Given the description of an element on the screen output the (x, y) to click on. 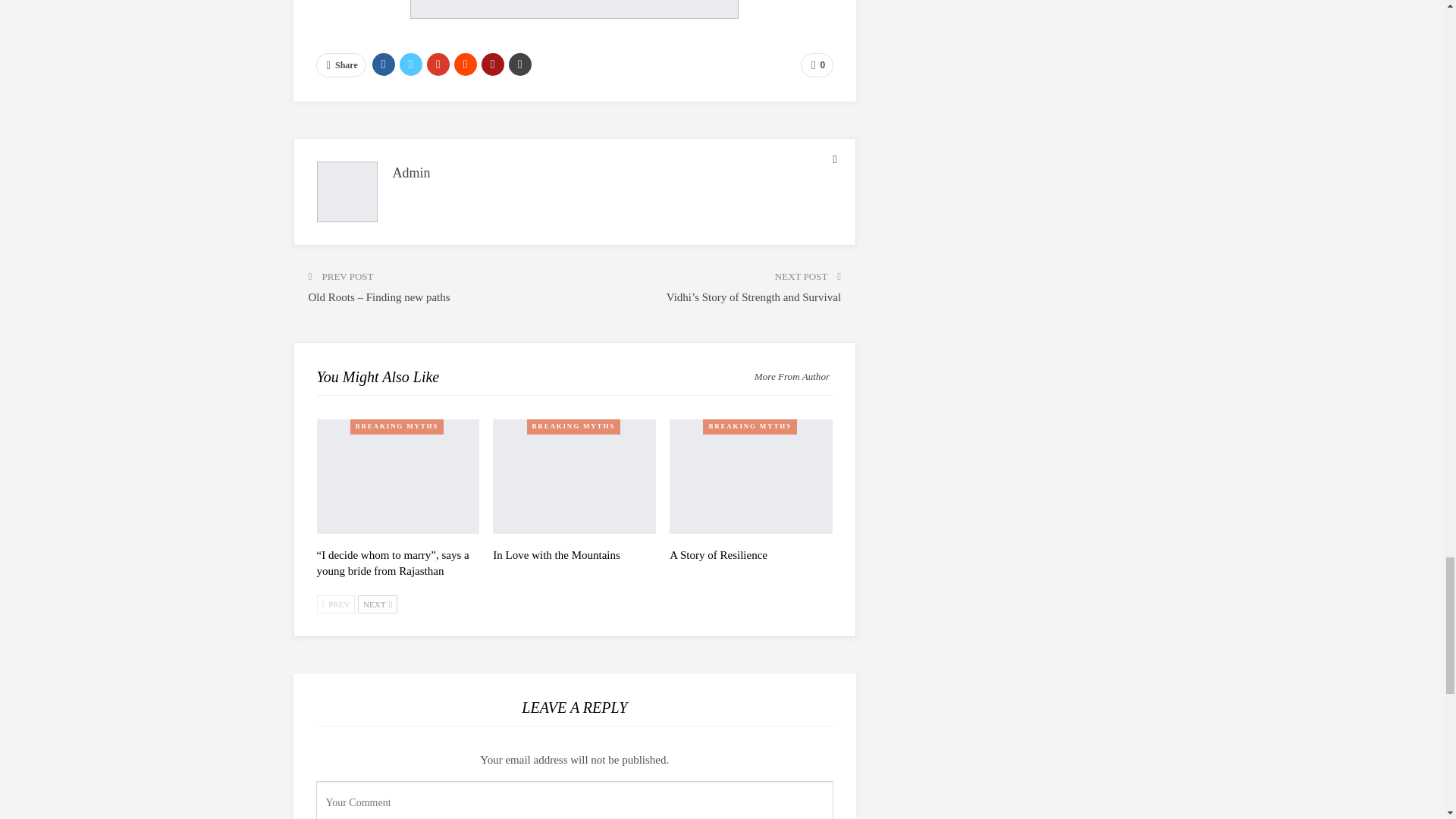
Next (377, 604)
A Story of Resilience (718, 554)
A Story of Resilience (750, 476)
In Love with the Mountains (574, 476)
Admin (411, 172)
0 (816, 64)
Previous (336, 604)
In Love with the Mountains (556, 554)
